Given the description of an element on the screen output the (x, y) to click on. 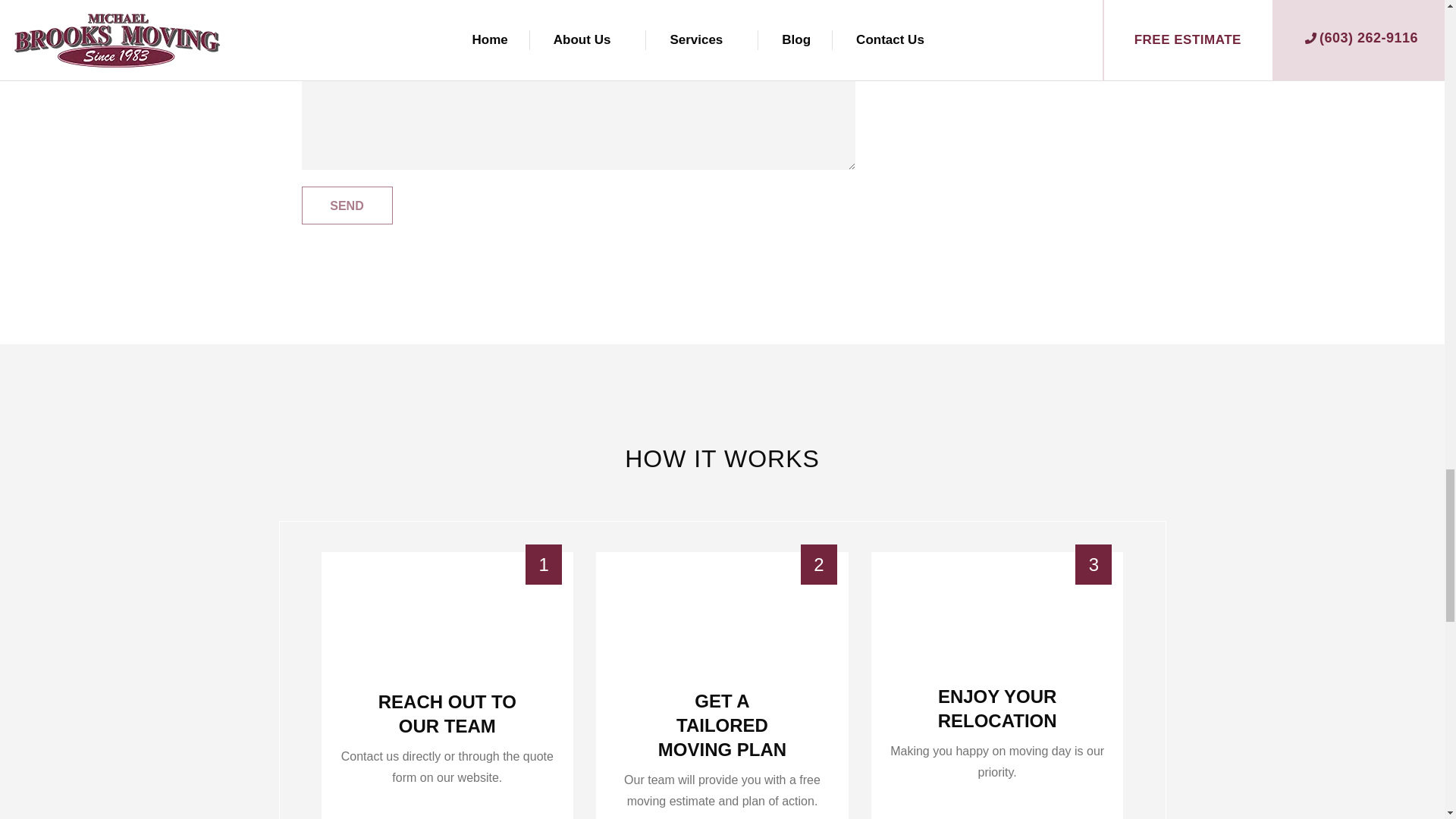
Send (347, 205)
